Given the description of an element on the screen output the (x, y) to click on. 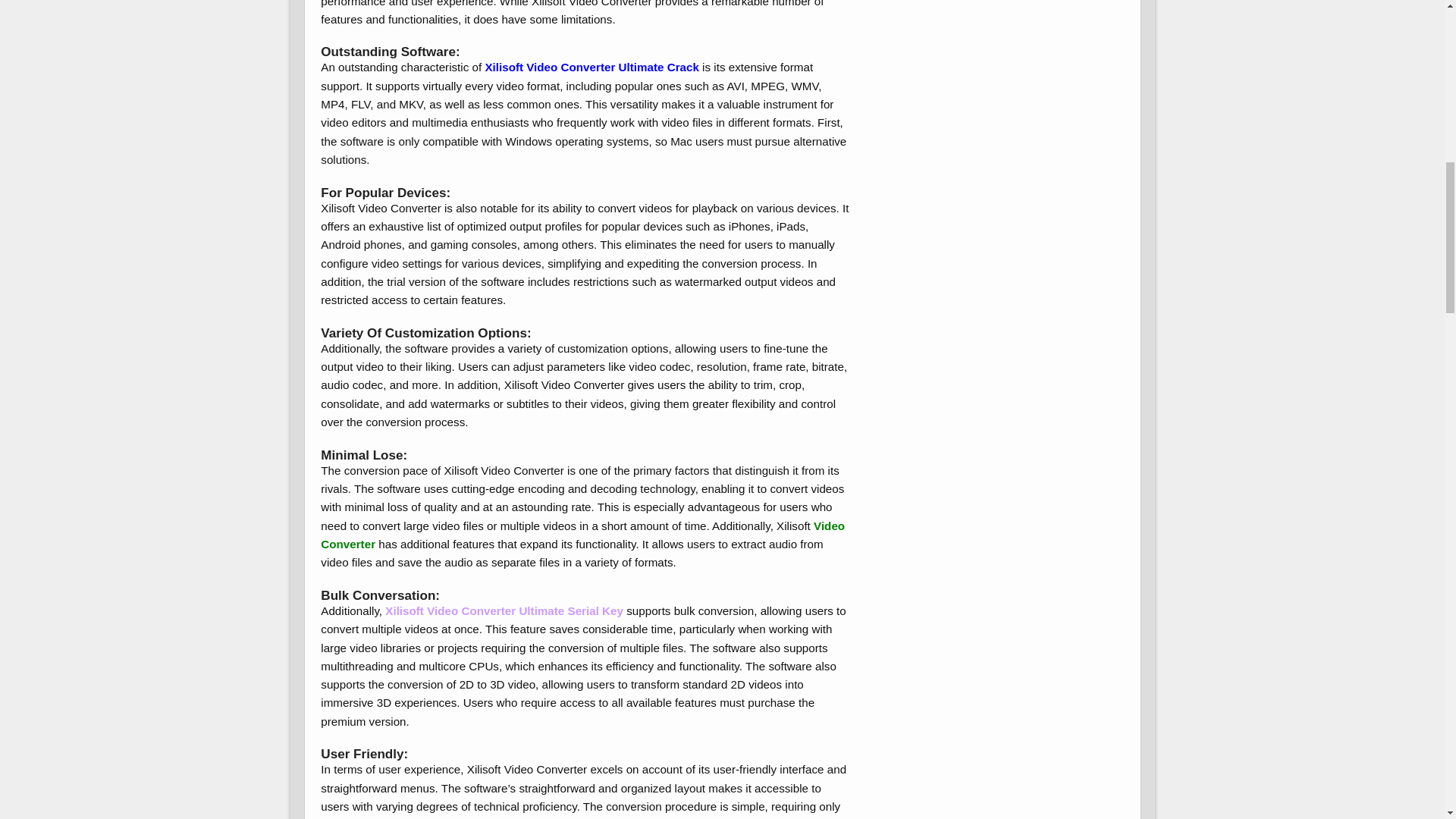
Xilisoft Video Converter Ultimate Crack (592, 66)
Video Converter (582, 534)
Xilisoft Video Converter Ultimate Serial Key (504, 610)
